Given the description of an element on the screen output the (x, y) to click on. 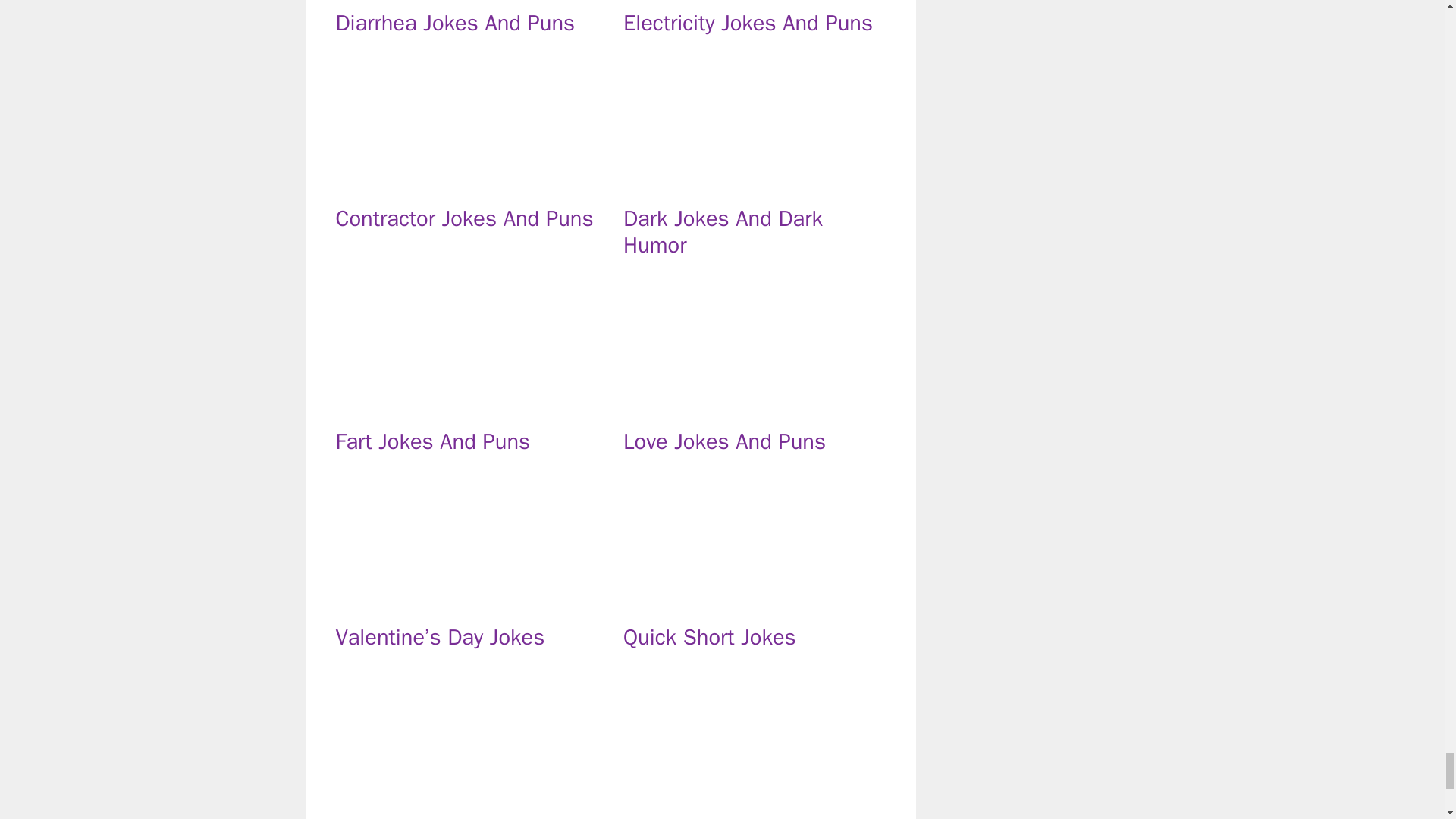
Fart Jokes And Puns (431, 441)
Fart Jokes And Puns (465, 406)
Dark Jokes And Dark Humor (754, 183)
Love Jokes And Puns (724, 441)
Love Jokes And Puns (754, 406)
Electricity Jokes And Puns (747, 22)
Diarrhea Jokes And Puns (454, 22)
Contractor Jokes And Puns (465, 183)
Quick Short Jokes (754, 602)
Dark Jokes And Dark Humor (722, 231)
Contractor Jokes And Puns (463, 218)
